Given the description of an element on the screen output the (x, y) to click on. 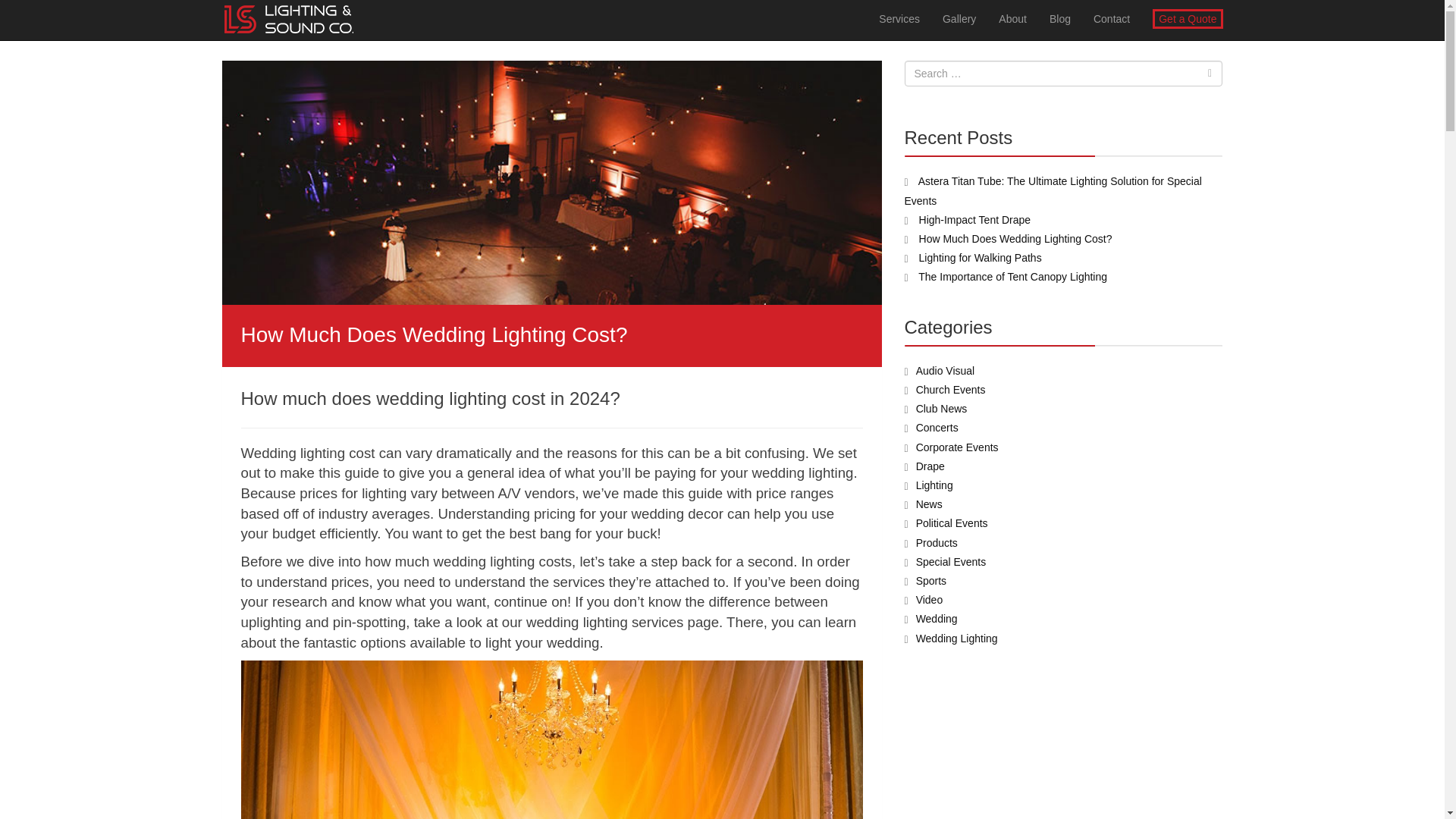
How Much Does Wedding Lighting Cost? (1015, 238)
Get a Quote (1187, 20)
Gallery (959, 18)
Lighting for Walking Paths (980, 257)
Services (899, 18)
The Importance of Tent Canopy Lighting (1012, 276)
Contact (1111, 18)
Search for: (1063, 73)
Get a Quote (1188, 18)
Blog (1059, 18)
High-Impact Tent Drape (974, 219)
